Given the description of an element on the screen output the (x, y) to click on. 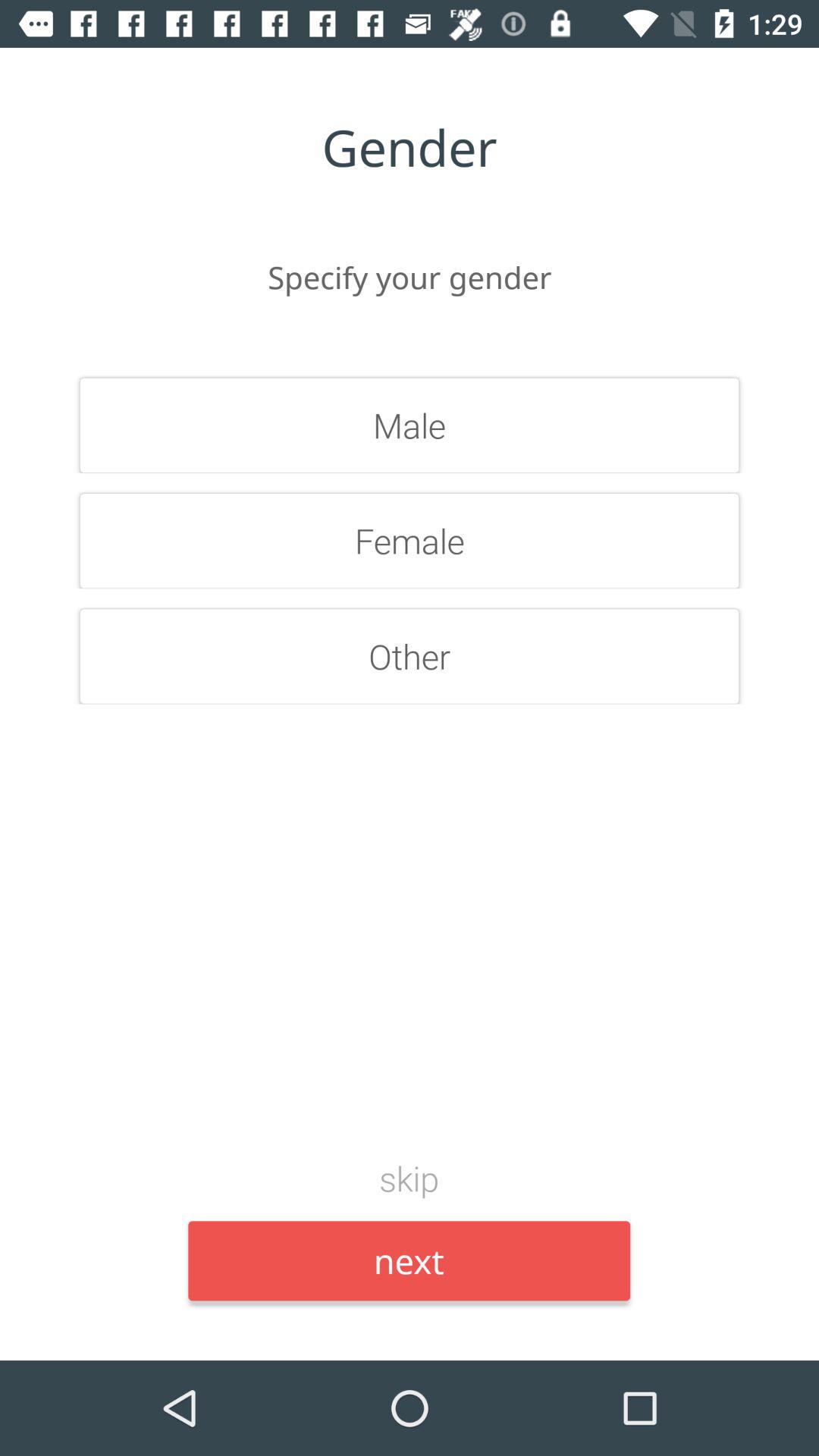
flip until the female item (409, 540)
